Given the description of an element on the screen output the (x, y) to click on. 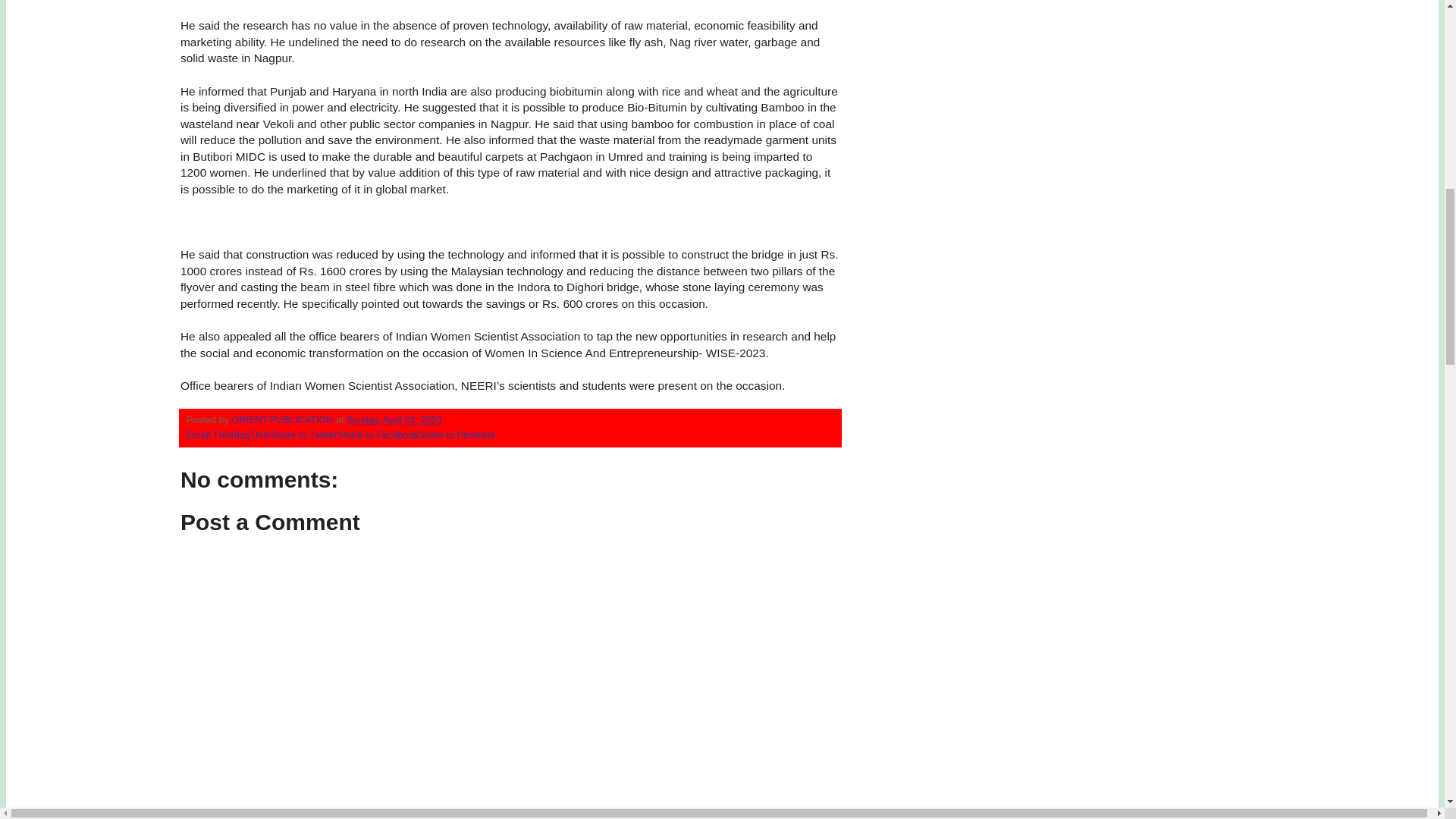
Share to Twitter (303, 434)
permanent link (394, 419)
BlogThis! (250, 434)
ORIENT PUBLICATION (283, 419)
Share to Facebook (377, 434)
Share to Pinterest (456, 434)
Share to Twitter (303, 434)
BlogThis! (250, 434)
author profile (283, 419)
Email This (208, 434)
Email This (208, 434)
Share to Pinterest (456, 434)
Share to Facebook (377, 434)
Sunday, April 02, 2023 (394, 419)
